Given the description of an element on the screen output the (x, y) to click on. 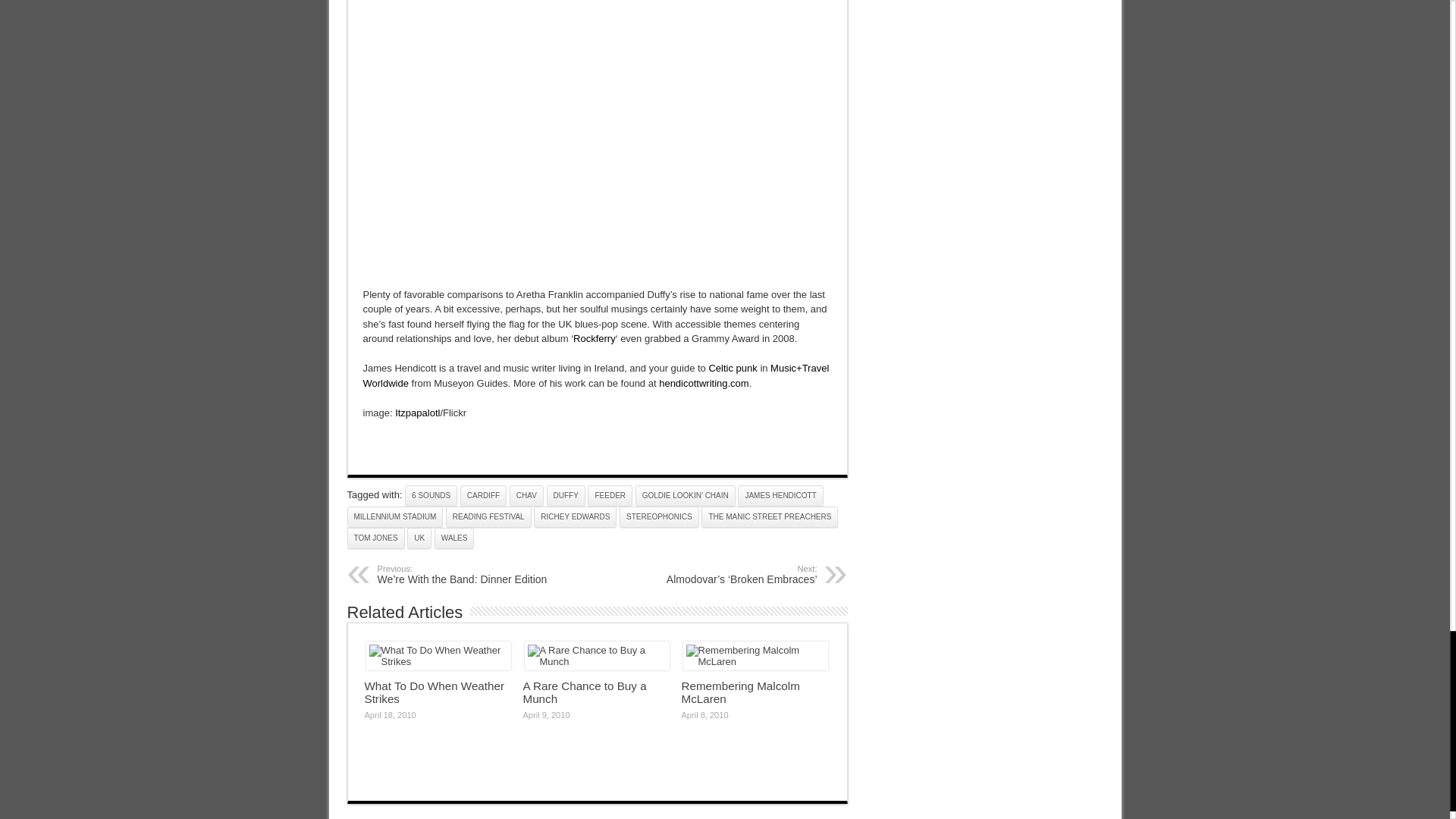
A Rare Chance to Buy a Munch (596, 655)
Permalink to A Rare Chance to Buy a Munch (584, 692)
Permalink to Remembering Malcolm McLaren (754, 661)
Permalink to A Rare Chance to Buy a Munch (596, 661)
Permalink to What To Do When Weather Strikes (438, 661)
Permalink to What To Do When Weather Strikes (433, 692)
What To Do When Weather Strikes (438, 655)
